Given the description of an element on the screen output the (x, y) to click on. 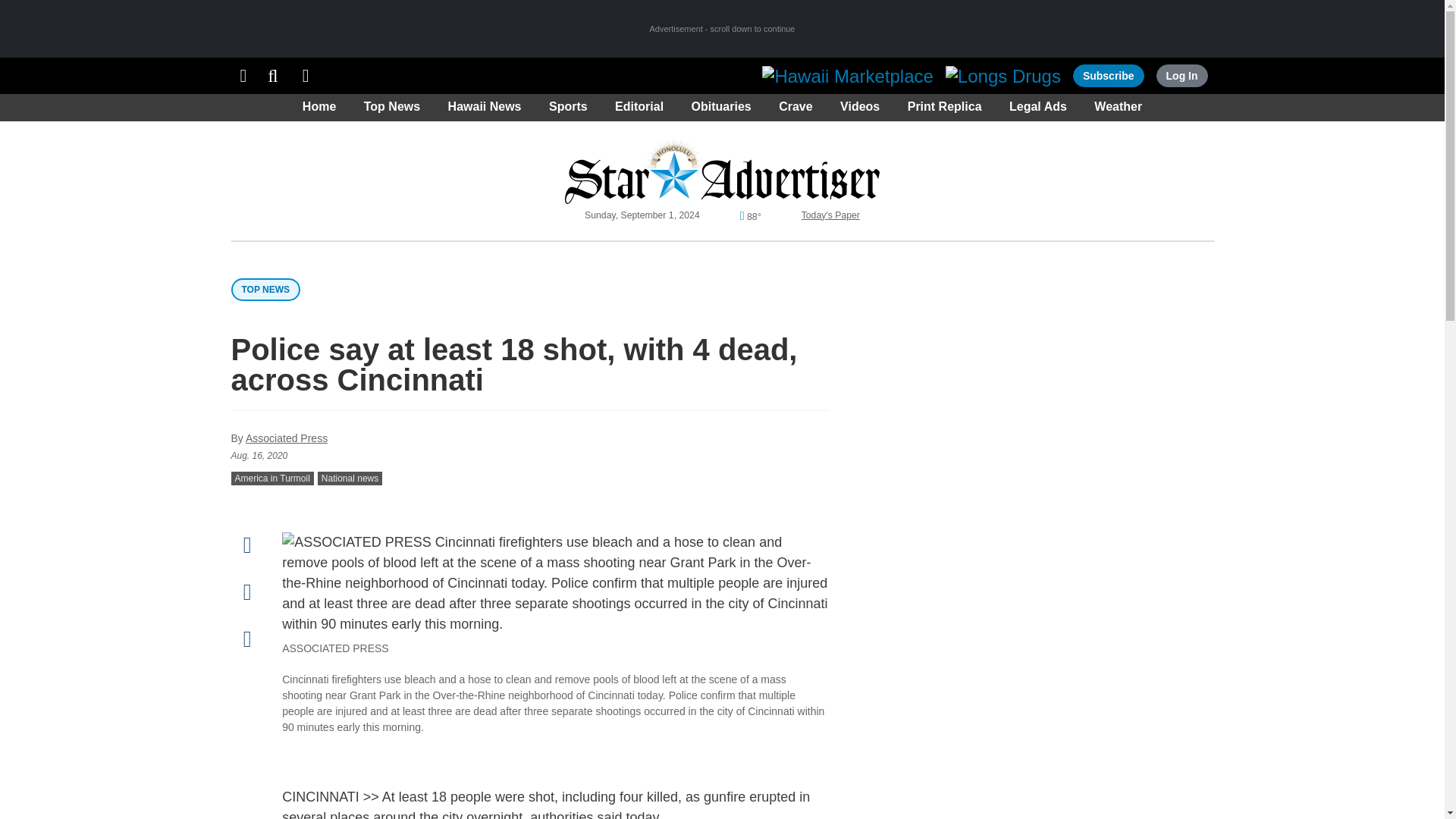
Search (272, 75)
See more stories by Associated Press (286, 438)
Log In (1182, 75)
Print Replica (306, 75)
Honolulu Star-Advertiser (721, 169)
Subscribe (1108, 75)
Sections (243, 75)
